Given the description of an element on the screen output the (x, y) to click on. 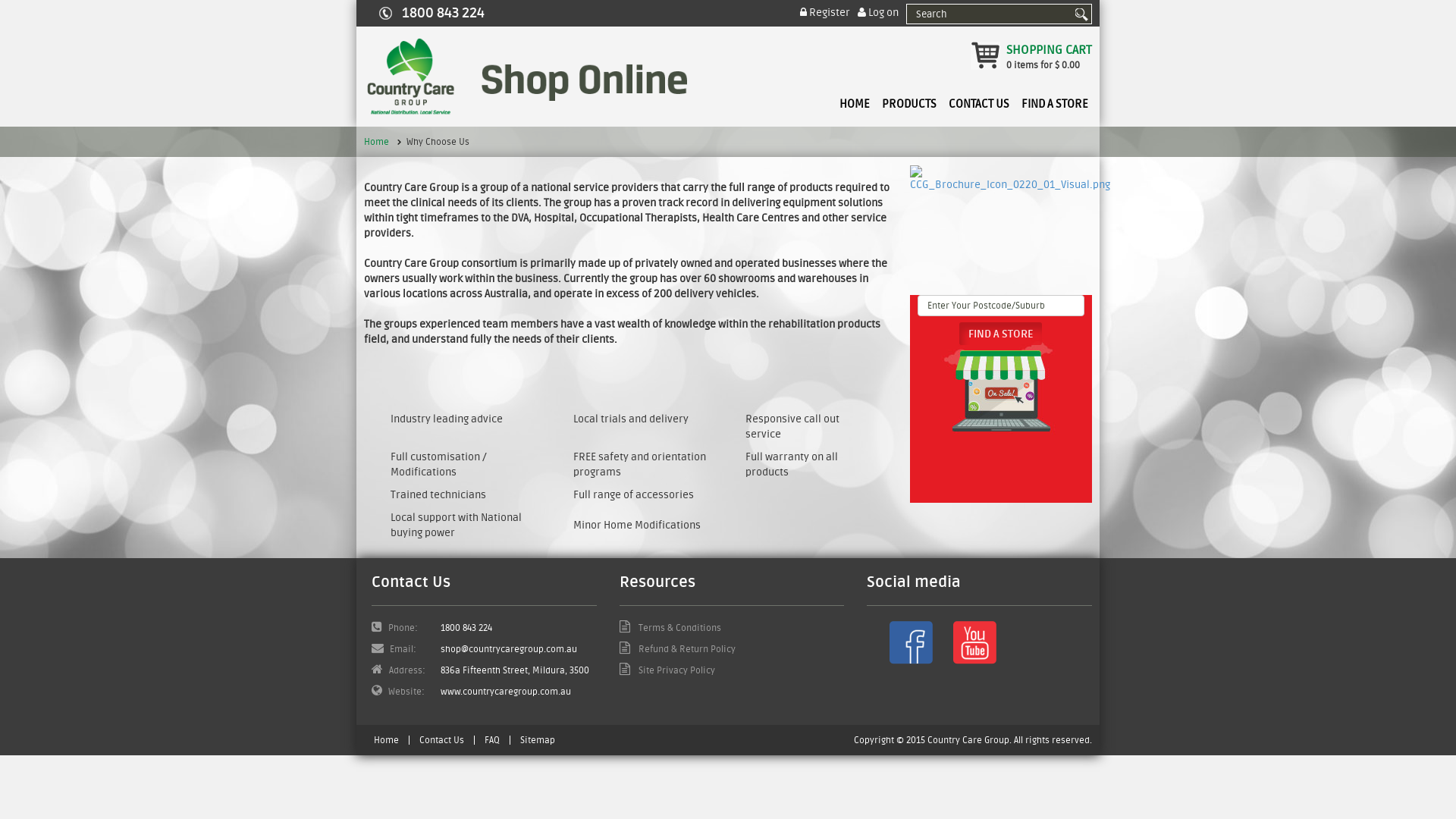
HOME Element type: text (854, 98)
CONTACT US Element type: text (978, 98)
Register Element type: text (825, 13)
PRODUCTS Element type: text (908, 98)
Home Element type: text (385, 739)
www.countrycaregroup.com.au Element type: text (505, 691)
FAQ Element type: text (491, 739)
Find A Store Element type: text (1000, 333)
shop@countrycaregroup.com.au Element type: text (508, 648)
Home Element type: text (376, 141)
1800 843 224 Element type: text (466, 627)
CCG_Brochure_Icon_0220_01_Visual.png Element type: hover (1010, 178)
SHOPPING CART
0 items for $ 0.00 Element type: text (1031, 56)
Contact Us Element type: text (441, 739)
Log on Element type: text (877, 13)
Site Privacy Policy Element type: text (667, 670)
Refund & Return Policy Element type: text (677, 648)
Sitemap Element type: text (537, 739)
FIND A STORE Element type: text (1054, 98)
Terms & Conditions Element type: text (670, 627)
